Given the description of an element on the screen output the (x, y) to click on. 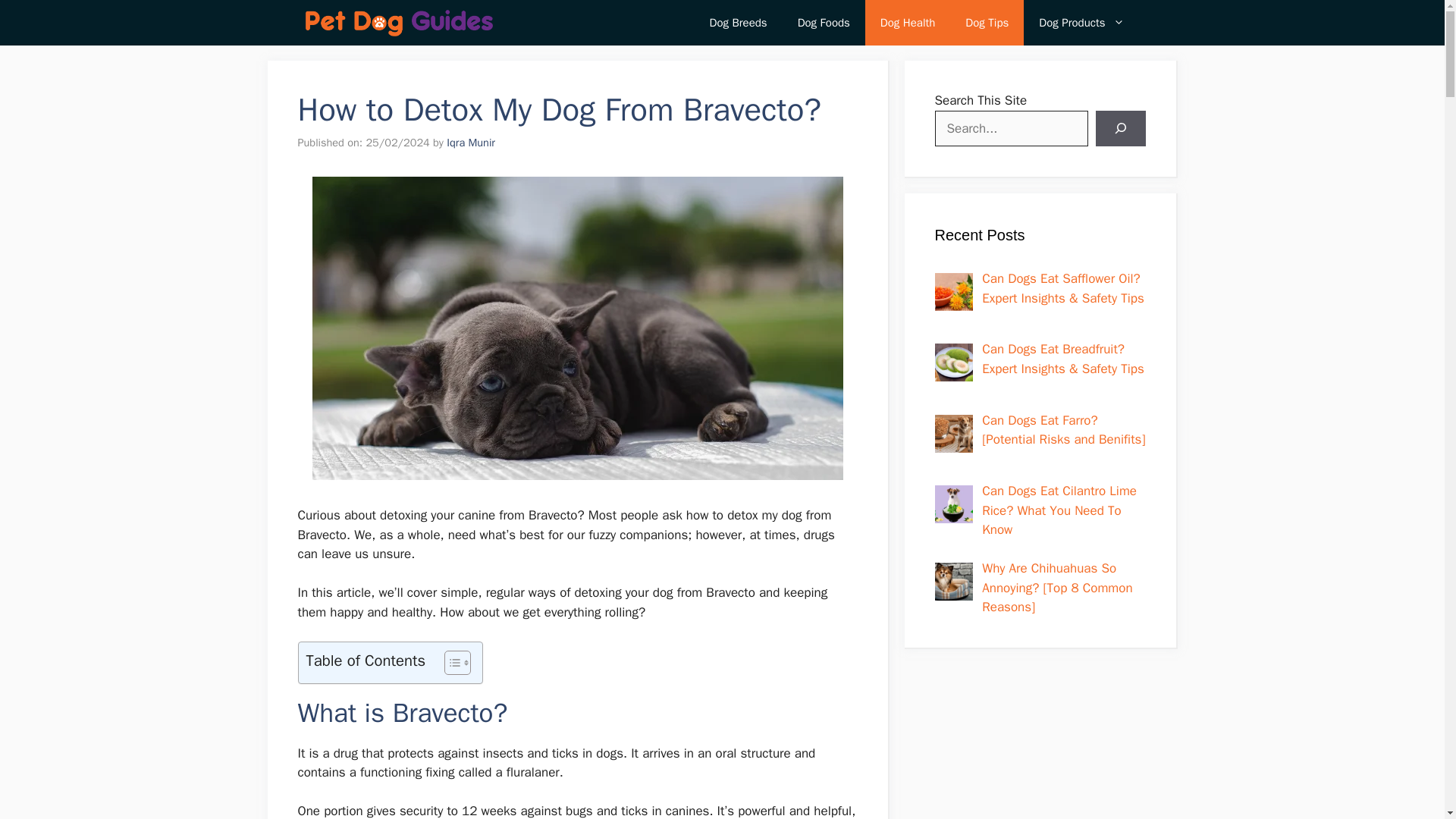
View all posts by Iqra Munir (470, 142)
Dog Products (1080, 22)
Dog Foods (823, 22)
Dog Tips (986, 22)
Dog Health (907, 22)
Dog Breeds (738, 22)
Pet Dog Guides (398, 22)
Iqra Munir (470, 142)
